Given the description of an element on the screen output the (x, y) to click on. 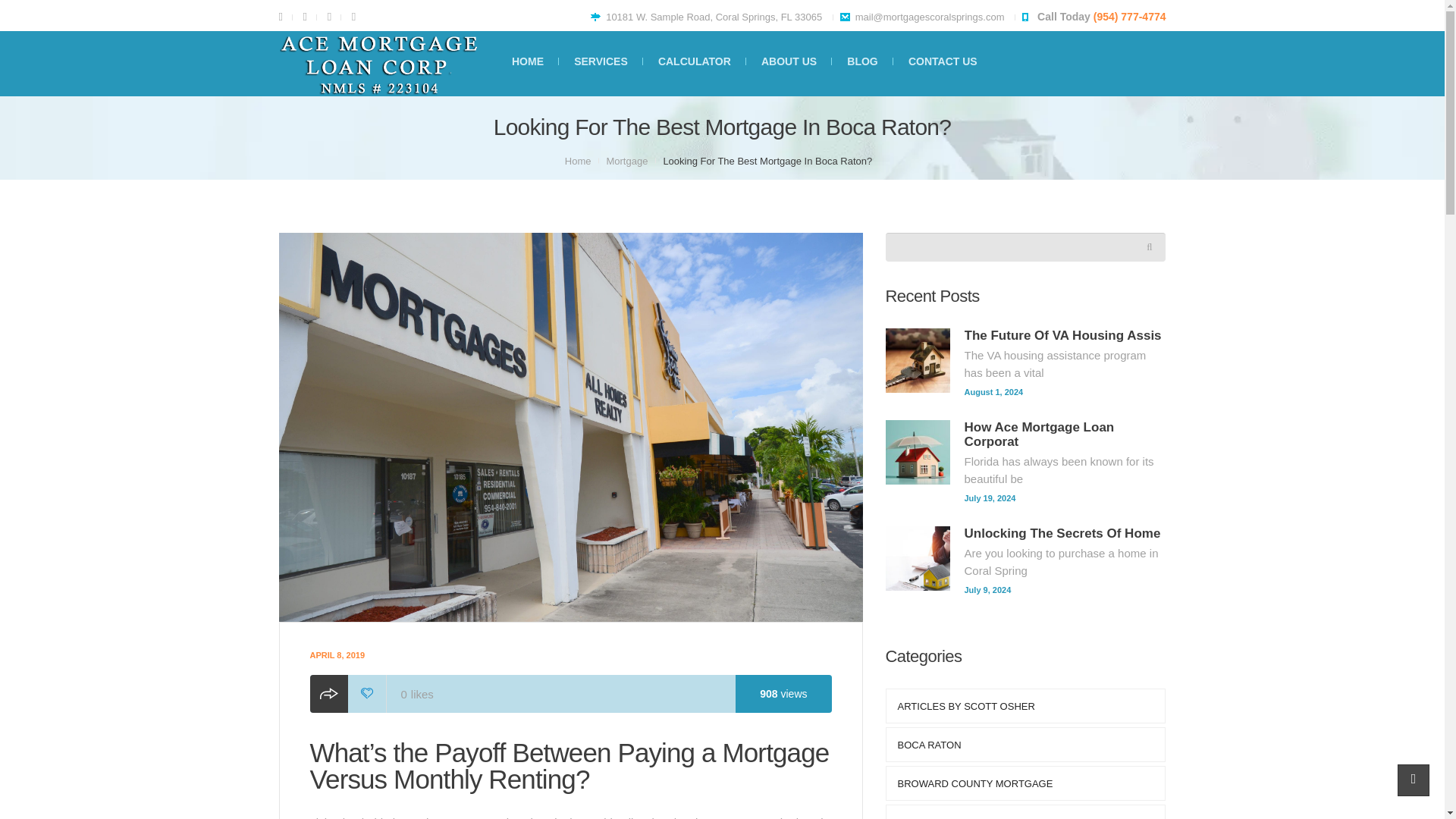
Home (577, 160)
Twitter (327, 17)
Search (1135, 246)
0likes (395, 694)
SERVICES (600, 61)
Love this (395, 694)
CONTACT US (942, 61)
CALCULATOR (694, 61)
Google (303, 17)
mortgage (626, 160)
APRIL 8, 2019 (336, 655)
10181 W. Sample Road, Coral Springs, FL 33065 (713, 16)
ABOUT US (788, 61)
908 views (783, 693)
Mortgage (626, 160)
